Given the description of an element on the screen output the (x, y) to click on. 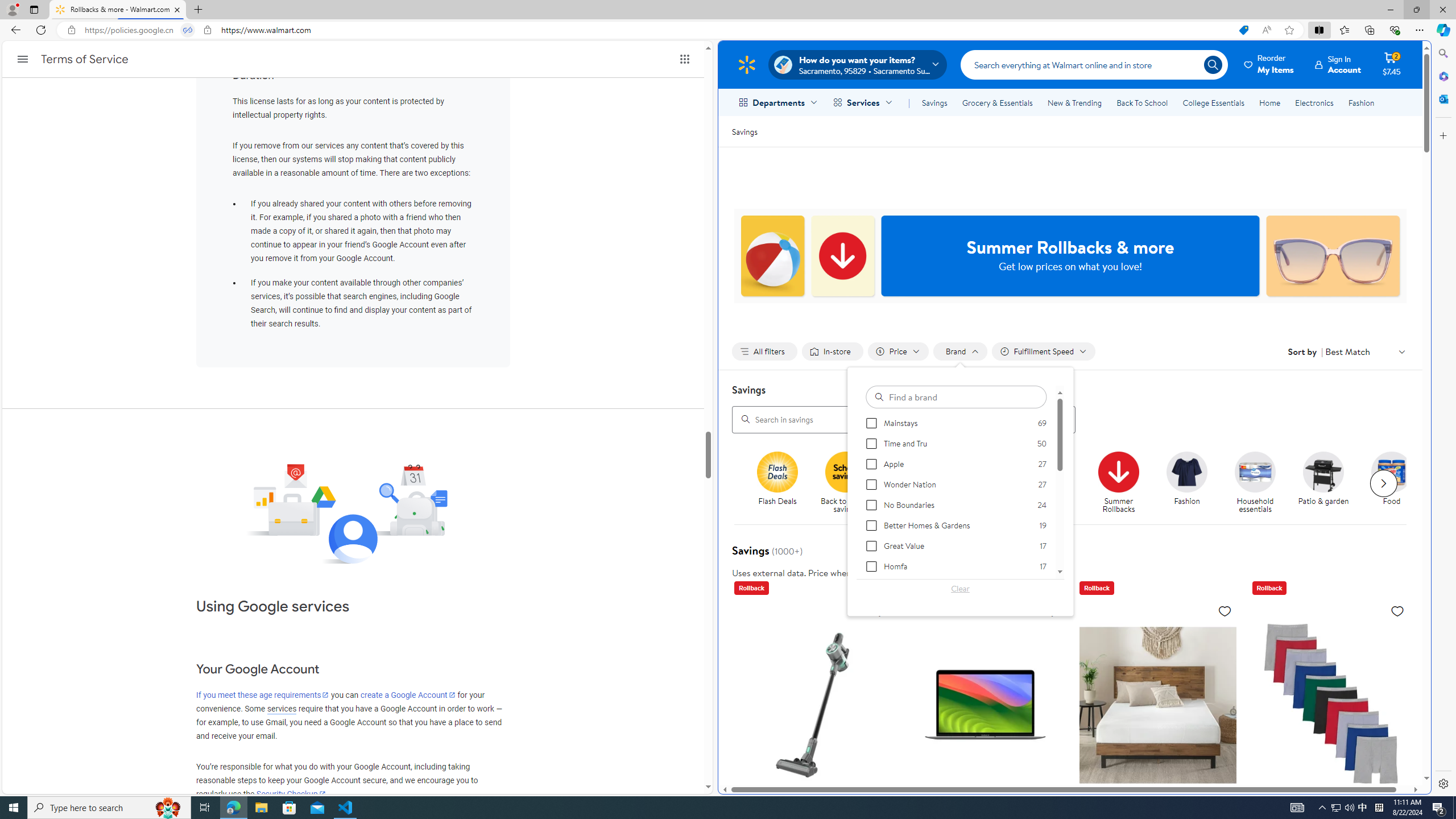
Walmart Homepage (746, 64)
Cart contains 2 items Total Amount $7.45 (1391, 64)
Summer Rollbacks & more Get low prices on what you love! (1069, 255)
Back to College savings Back to college savings (913, 483)
Electronics (1314, 102)
Summer Rollbacks (1123, 483)
New & Trending (1075, 102)
legal information (928, 572)
